Given the description of an element on the screen output the (x, y) to click on. 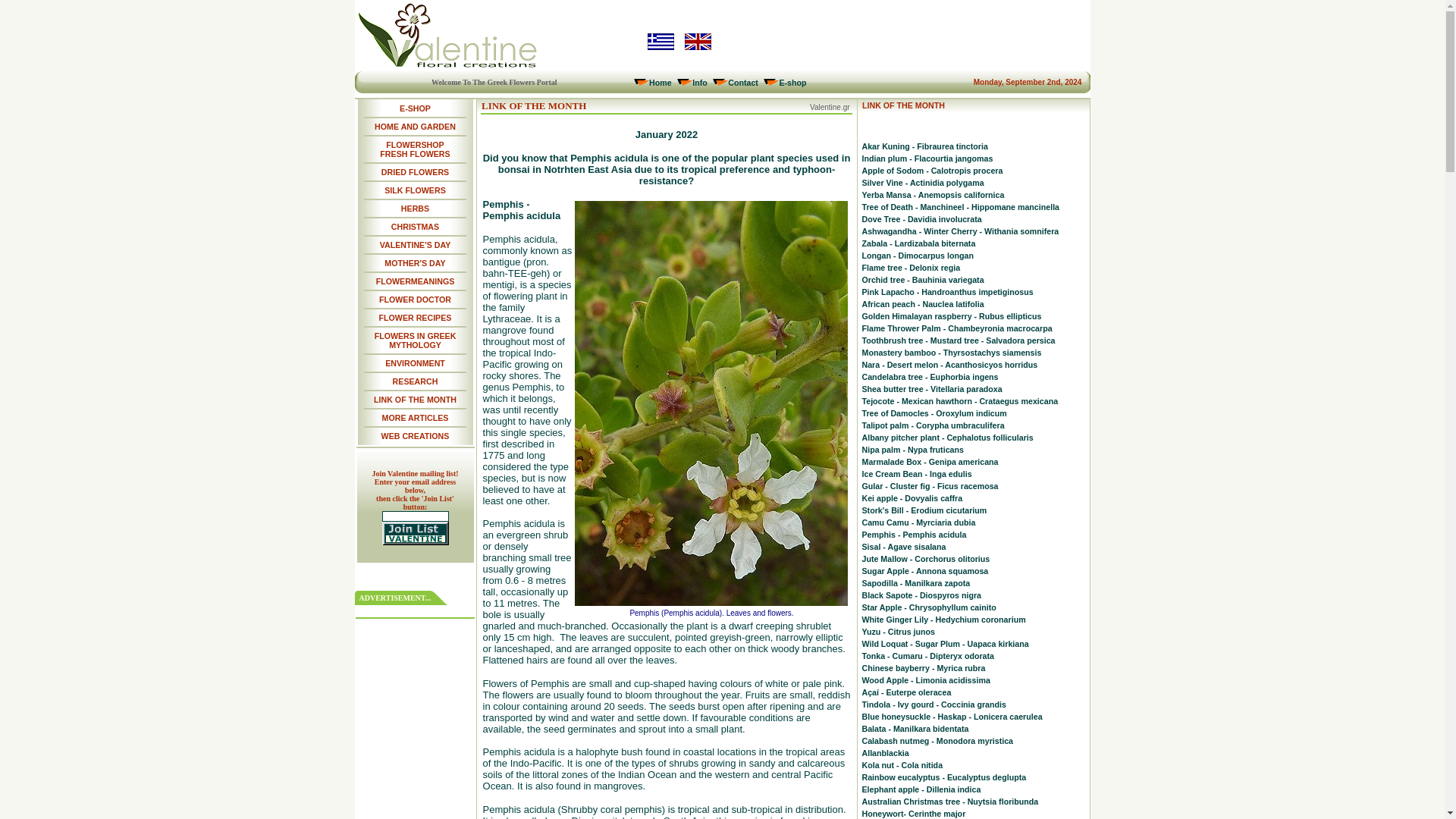
HERBS (415, 207)
MOTHER'S DAY (414, 262)
Longan - Dimocarpus longan (916, 255)
Home (660, 81)
Tree of Death - Manchineel - Hippomane mancinella (960, 206)
WEB CREATIONS (415, 435)
E-shop (792, 81)
Indian plum - Flacourtia jangomas (926, 157)
Info (700, 81)
MORE ARTICLES (414, 417)
